Given the description of an element on the screen output the (x, y) to click on. 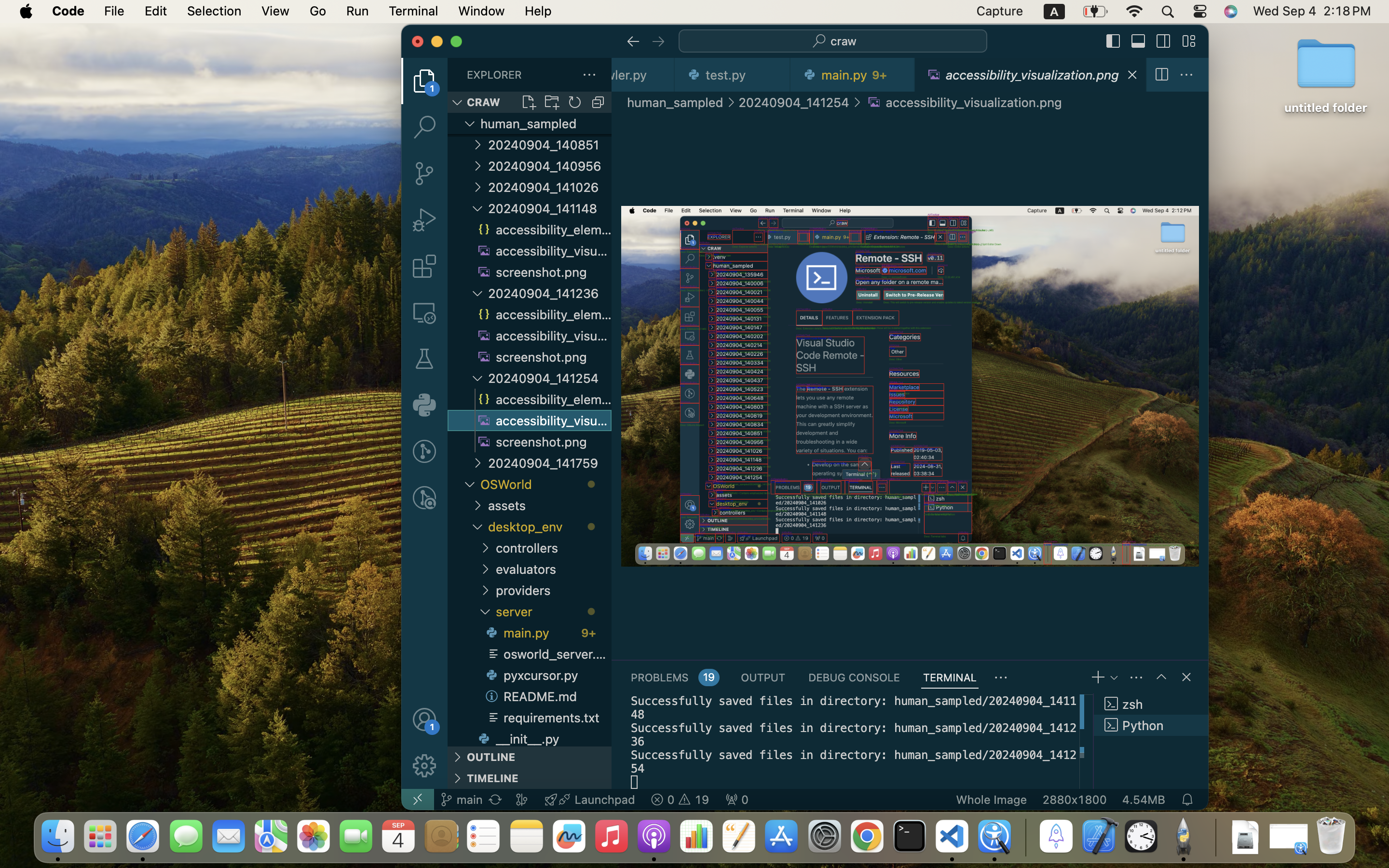
 Element type: AXCheckBox (1138, 41)
TIMELINE  Element type: AXButton (529, 777)
19  0  Element type: AXButton (679, 799)
main.py  9+ Element type: AXGroup (546, 632)
 Element type: AXGroup (1000, 677)
